Given the description of an element on the screen output the (x, y) to click on. 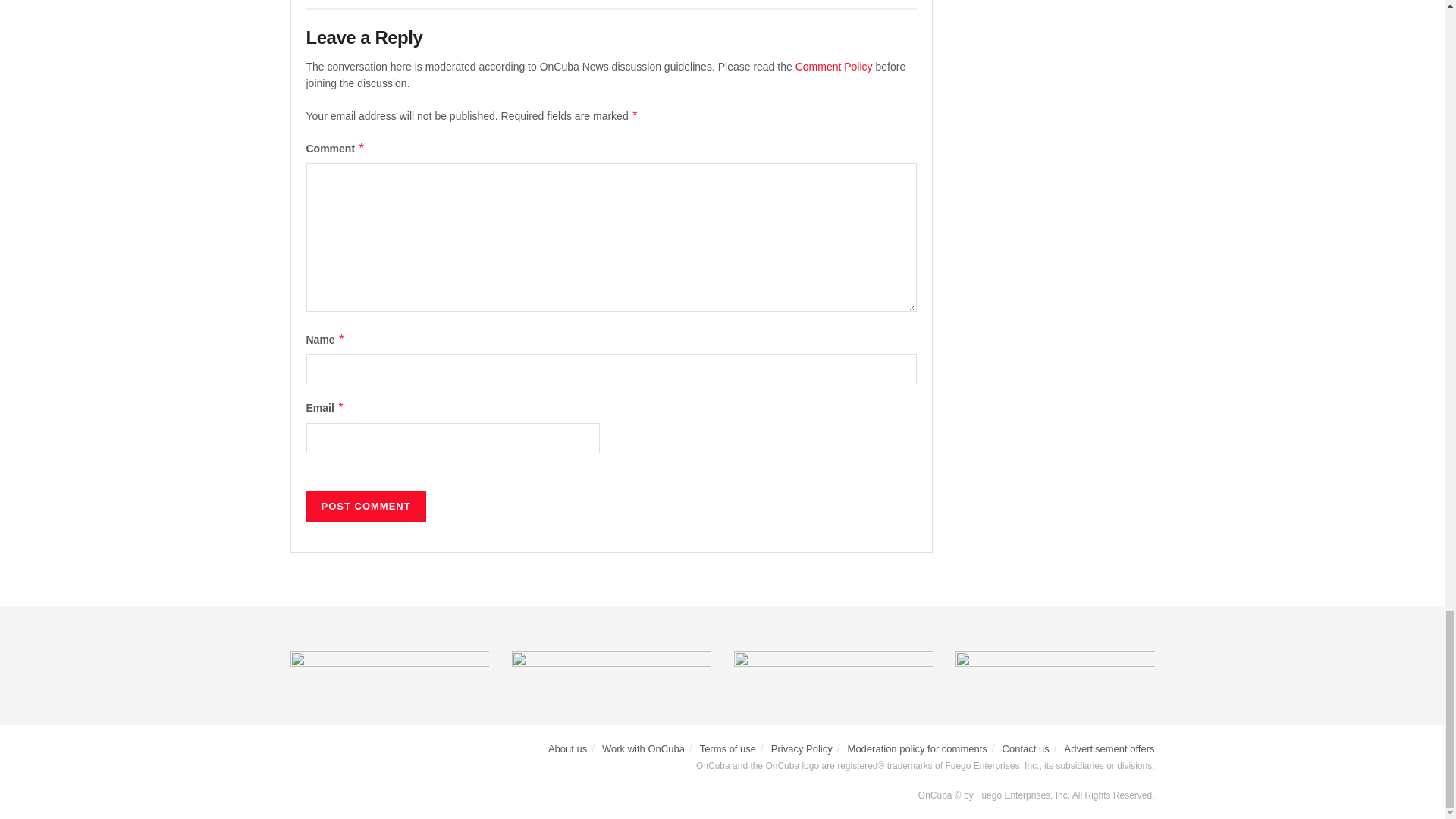
Post Comment (365, 506)
